Given the description of an element on the screen output the (x, y) to click on. 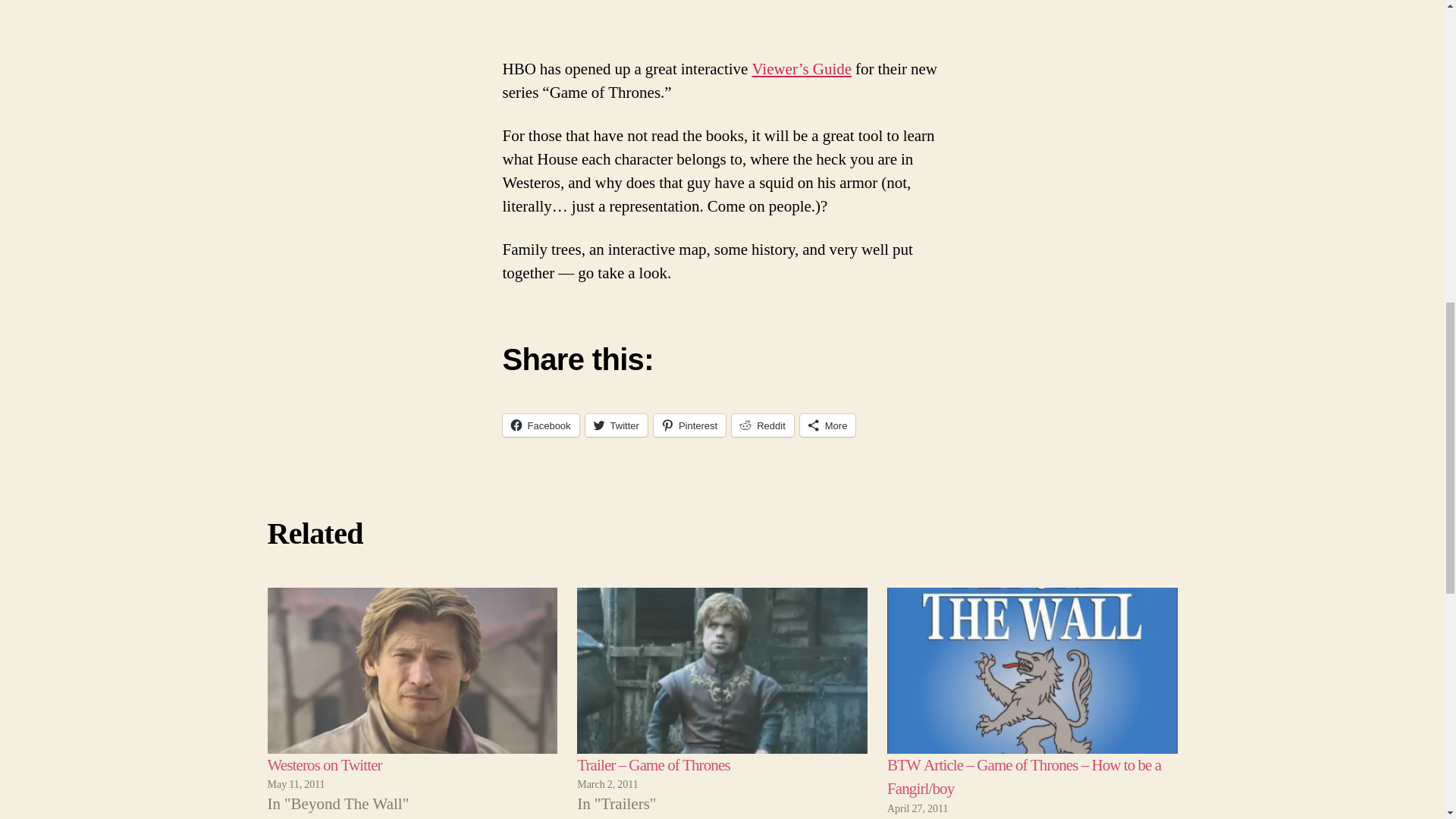
Westeros on Twitter (411, 670)
Viewer's Guide for HBO's Game of Thrones (801, 68)
Click to share on Twitter (616, 425)
Click to share on Pinterest (689, 425)
Westeros on Twitter (323, 765)
Click to share on Facebook (540, 425)
Click to share on Reddit (762, 425)
